Given the description of an element on the screen output the (x, y) to click on. 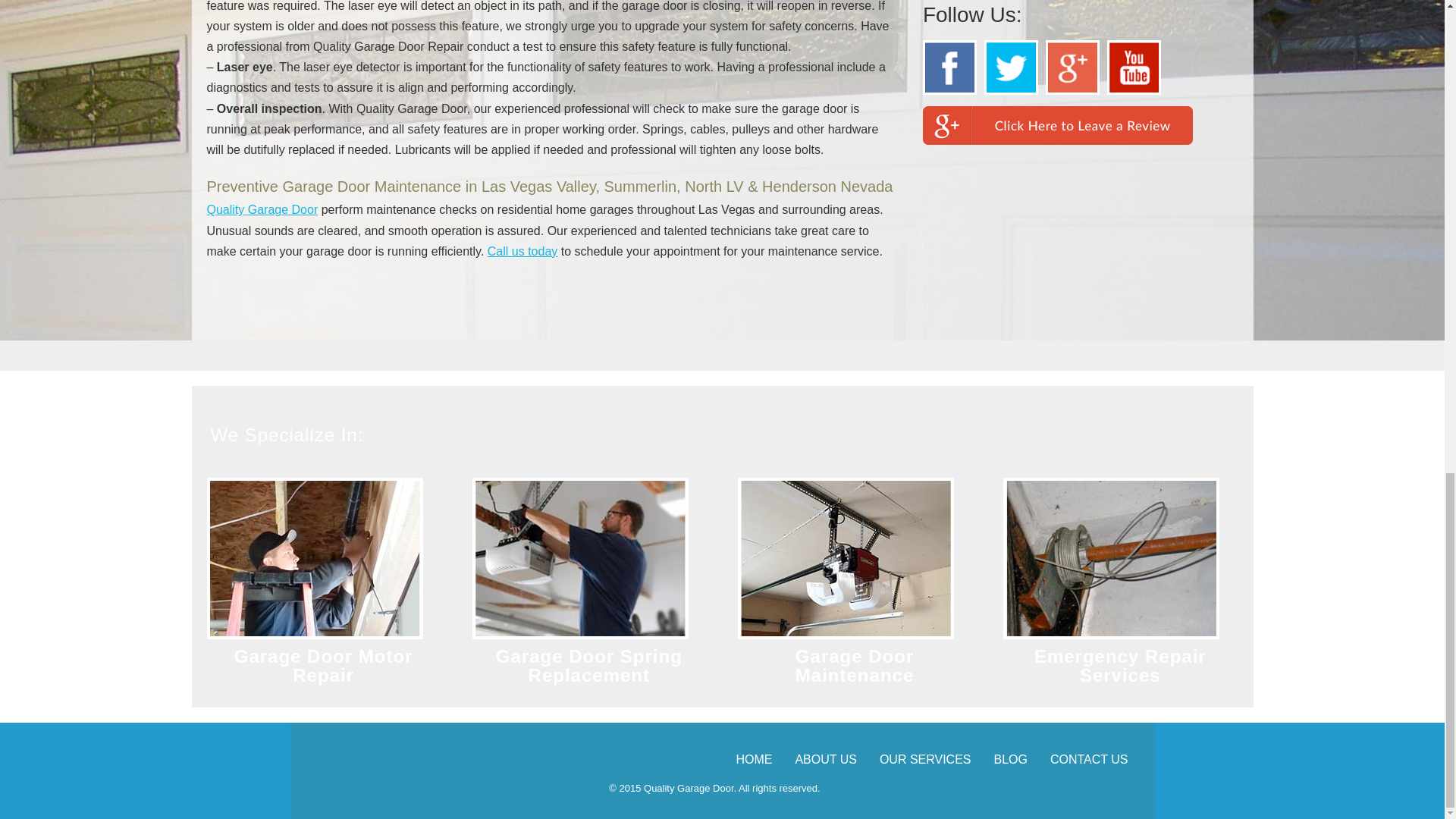
Quality Garage Door (261, 209)
Call us today (522, 250)
